Given the description of an element on the screen output the (x, y) to click on. 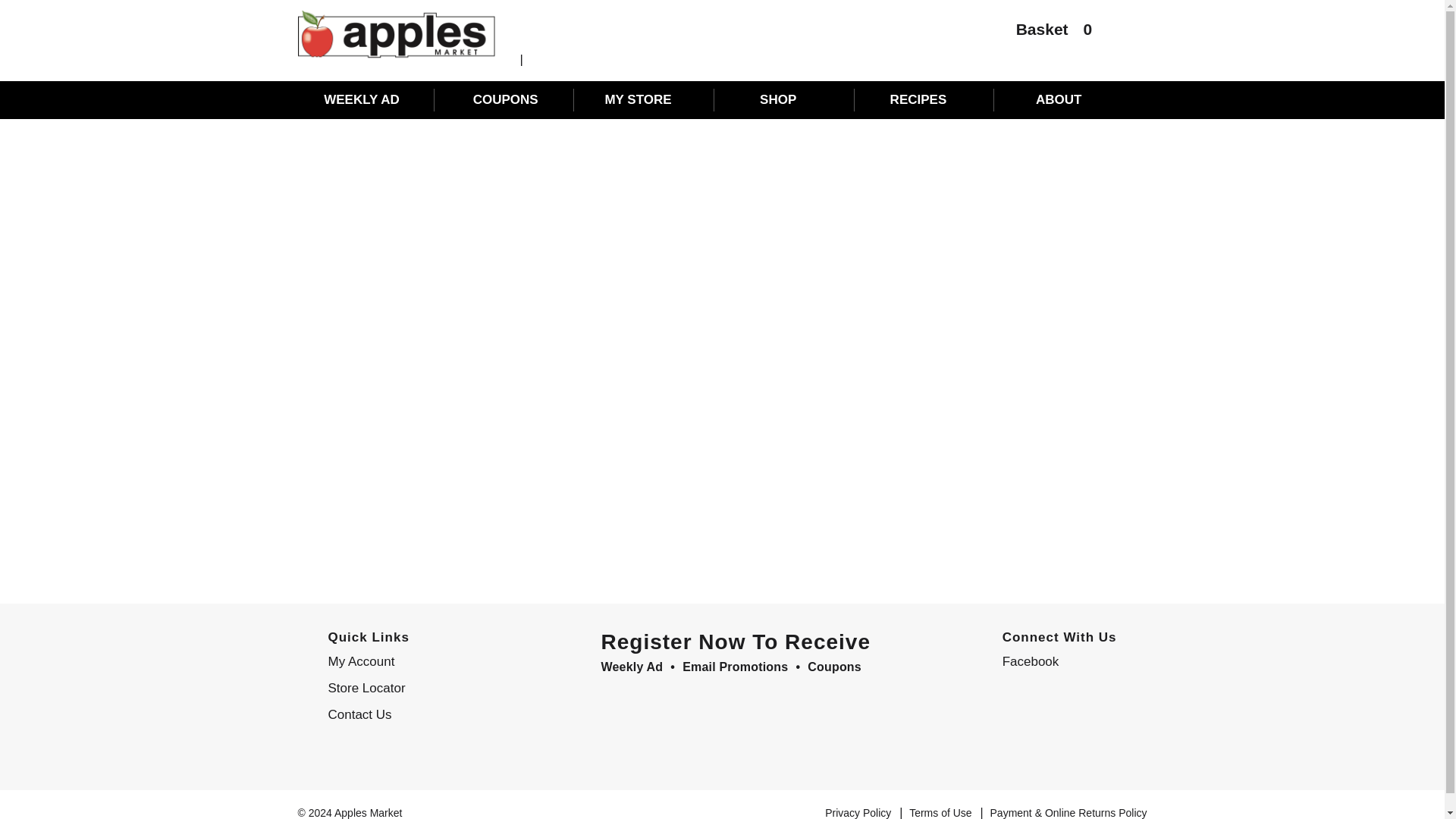
Contact Us (420, 714)
facebook (1055, 661)
ABOUT (1065, 99)
Basket0 (1047, 33)
My Account (420, 661)
MY STORE (646, 99)
RECIPES (925, 99)
SHOP (785, 99)
Store Locator (420, 688)
Facebook (1055, 661)
COUPONS (505, 99)
WEEKLY AD (365, 99)
